Given the description of an element on the screen output the (x, y) to click on. 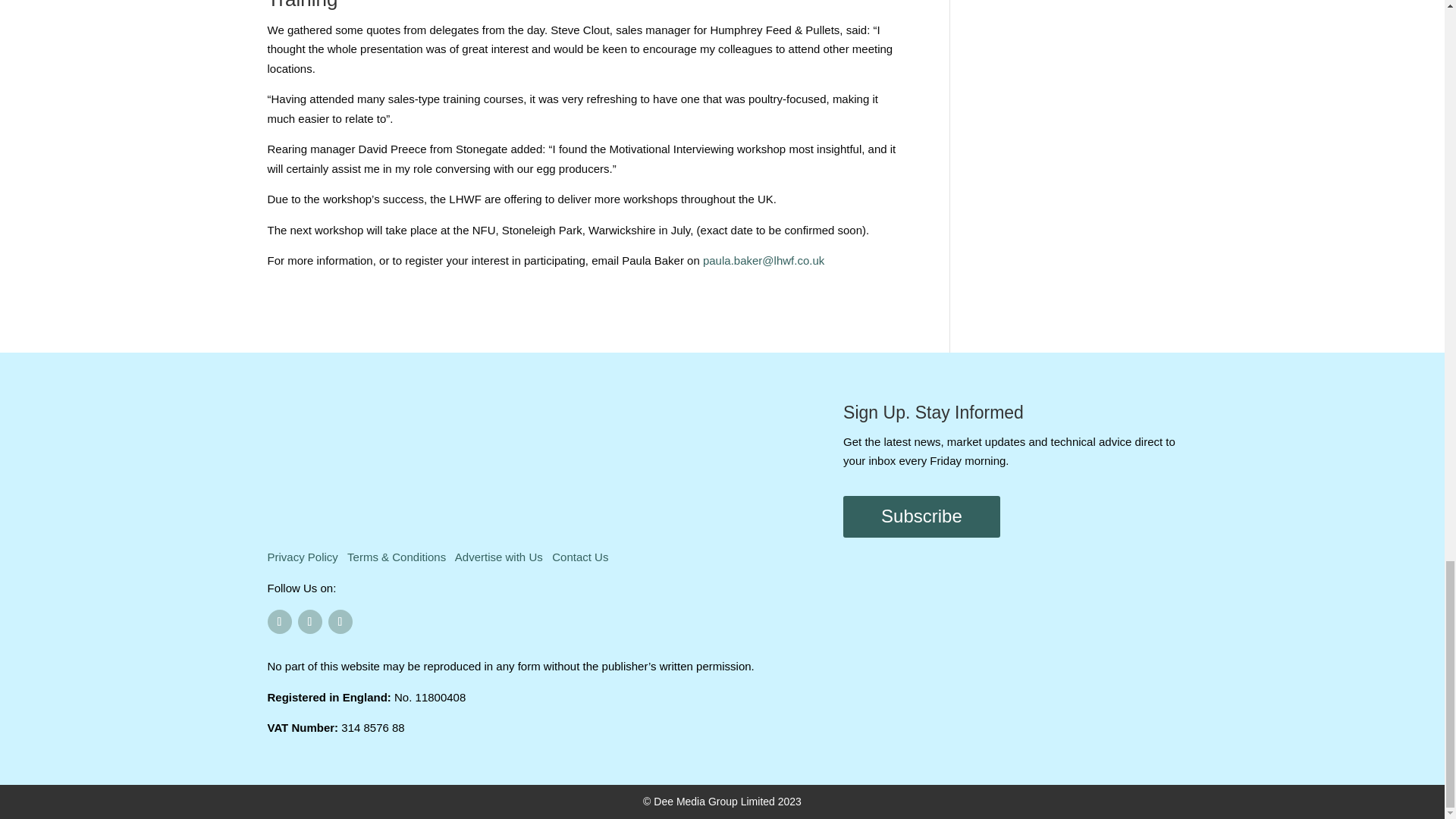
Privacy Policy (301, 556)
Follow on LinkedIn (339, 621)
Follow on Facebook (278, 621)
Contact Us (579, 556)
Follow on Twitter (309, 621)
Subscribe (921, 516)
Advertise with Us (498, 556)
